Given the description of an element on the screen output the (x, y) to click on. 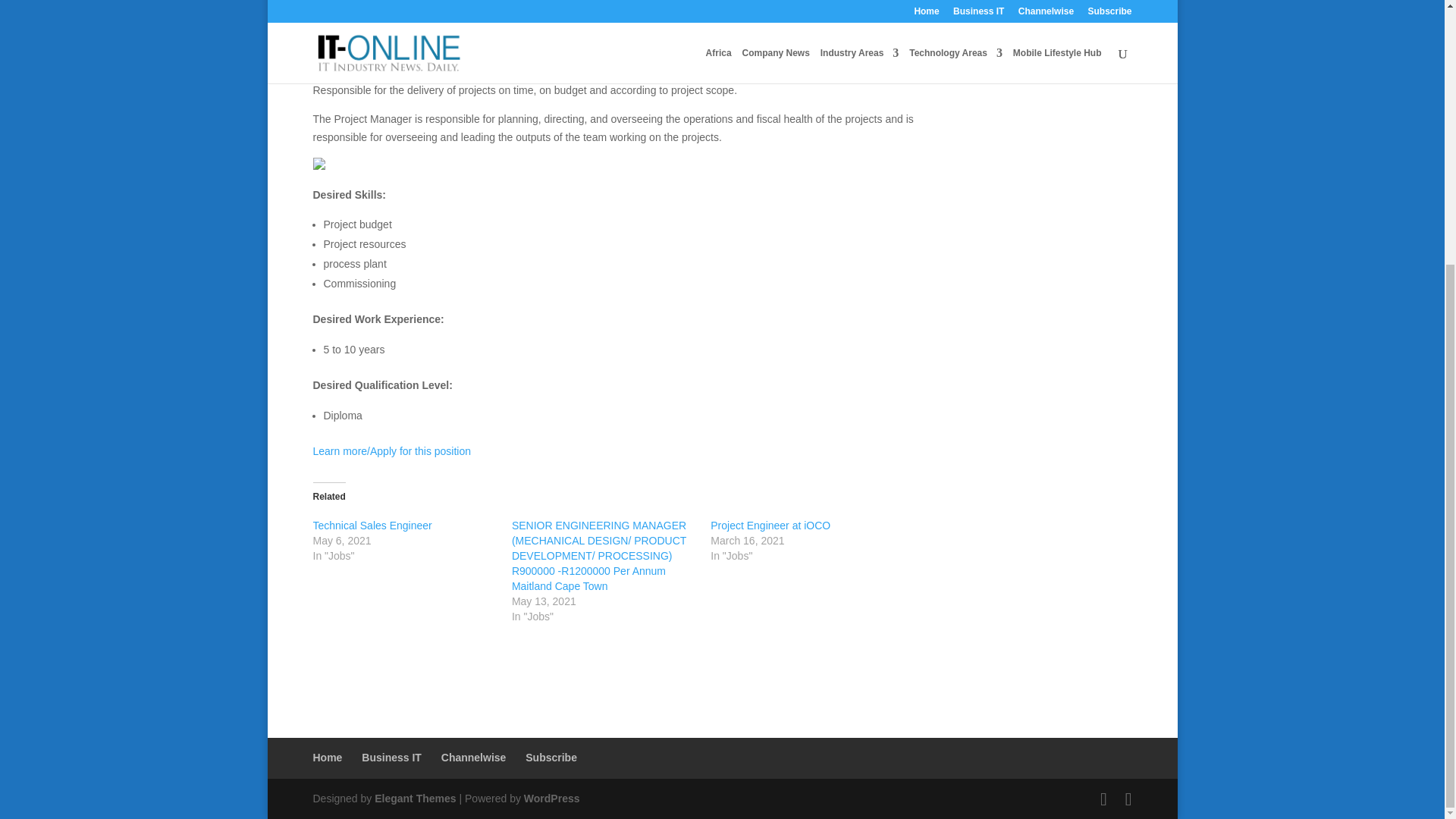
Project Engineer at iOCO (769, 525)
Premium WordPress Themes (414, 798)
Technical Sales Engineer (371, 525)
